Given the description of an element on the screen output the (x, y) to click on. 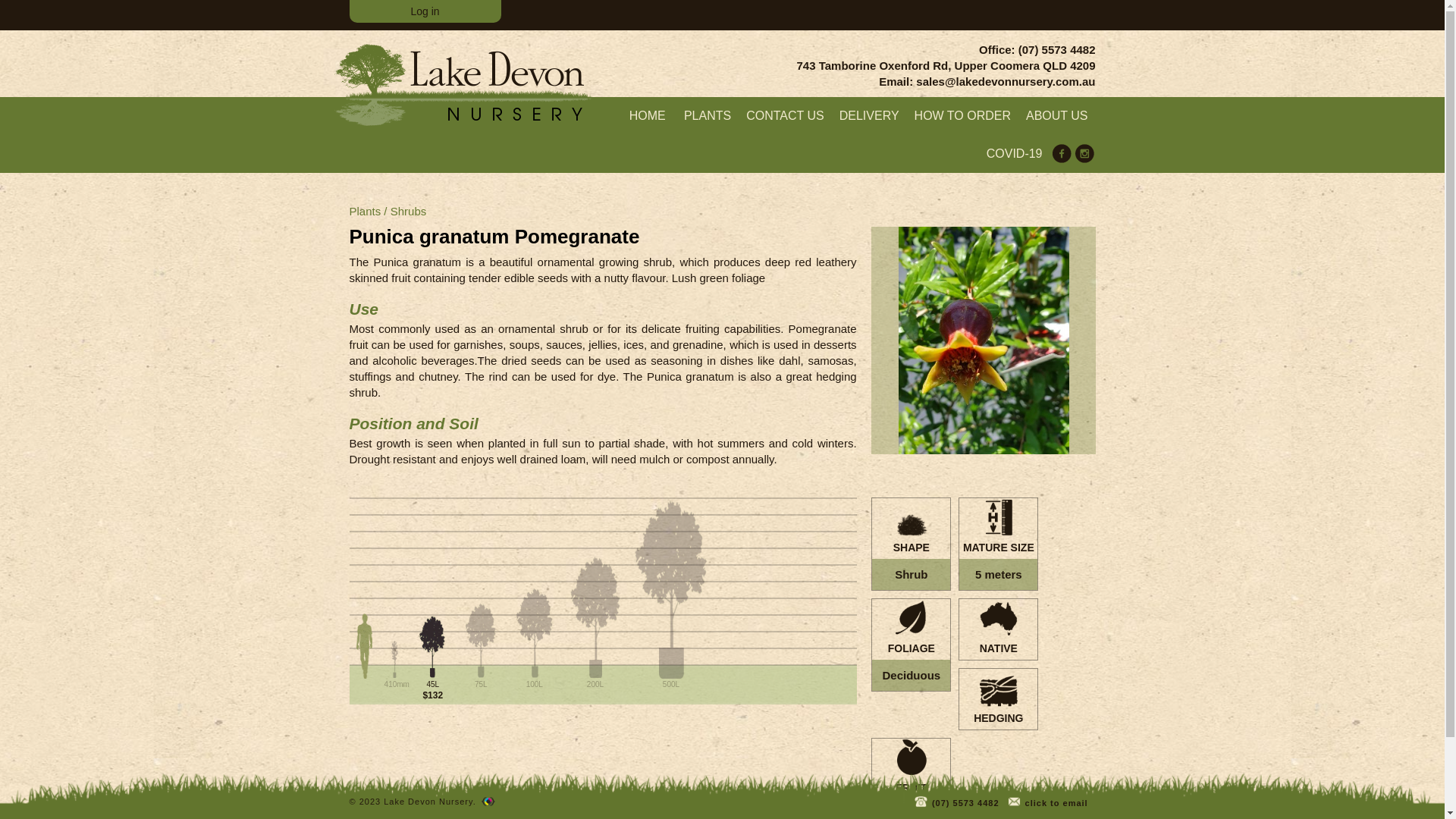
FRUIT Element type: text (910, 768)
click to email Element type: text (1047, 800)
SHAPE
Shrub Element type: text (910, 543)
(07) 5573 4482 Element type: text (956, 800)
  Element type: text (490, 801)
CONTACT US Element type: text (784, 115)
Shrubs Element type: text (408, 210)
ABOUT US Element type: text (1056, 115)
HOME Element type: text (647, 115)
COVID-19 Element type: text (1014, 153)
HOW TO ORDER Element type: text (962, 115)
Office: (07) 5573 4482 Element type: text (946, 49)
PLANTS Element type: text (707, 115)
HEDGING Element type: text (998, 699)
FOLIAGE
Deciduous Element type: text (910, 644)
MATURE SIZE
5 meters Element type: text (998, 543)
Plants Element type: text (364, 210)
NATIVE Element type: text (998, 629)
DELIVERY Element type: text (868, 115)
743 Tamborine Oxenford Rd, Upper Coomera QLD 4209 Element type: text (946, 65)
Log in Element type: text (424, 11)
Email: sales@lakedevonnursery.com.au Element type: text (946, 81)
